Given the description of an element on the screen output the (x, y) to click on. 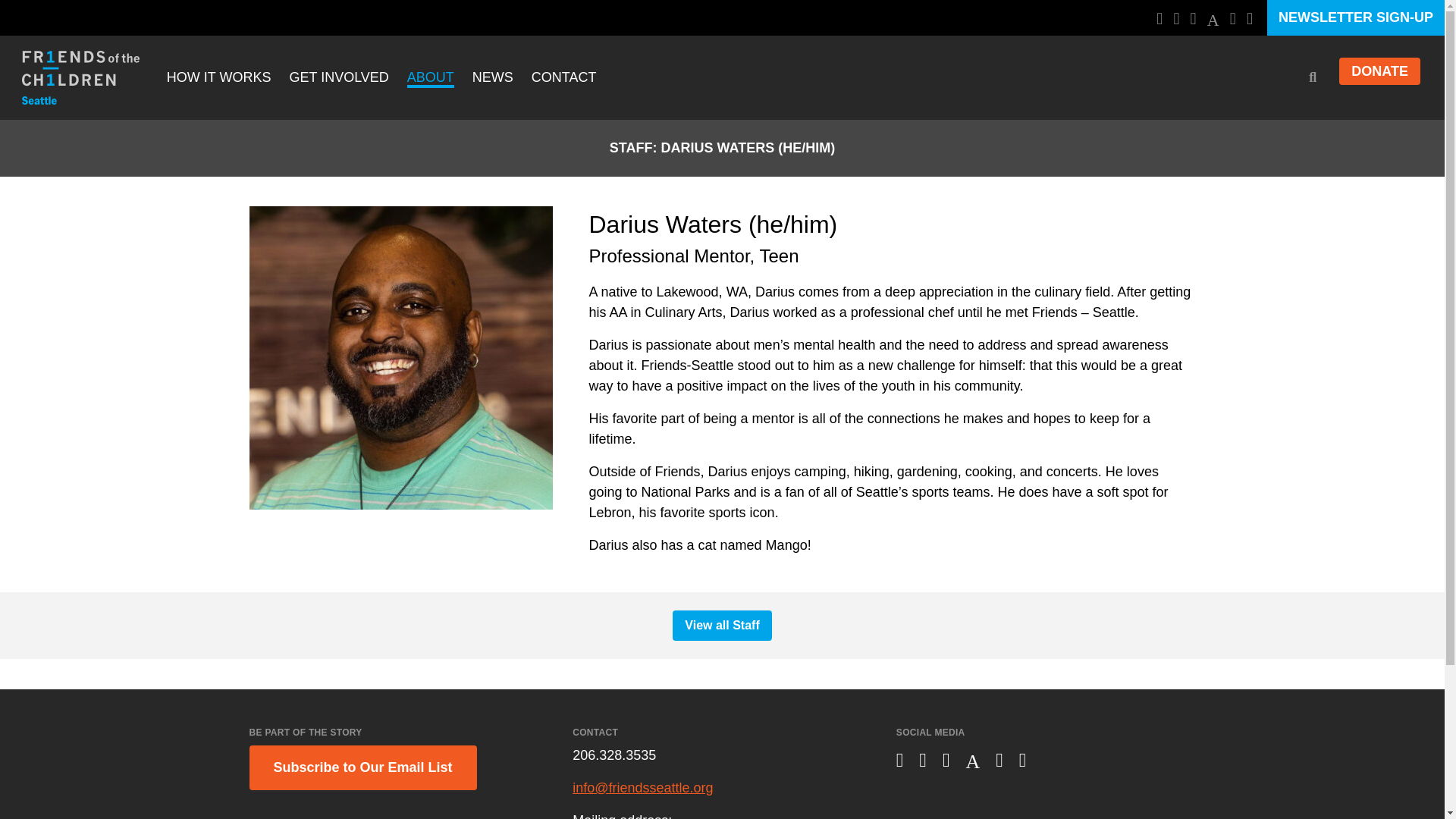
View all Staff (721, 625)
NEWS (492, 78)
ABOUT (430, 78)
Subscribe to Our Email List (362, 767)
CONTACT (563, 78)
GET INVOLVED (338, 78)
HOW IT WORKS (218, 78)
DONATE (1380, 71)
